Given the description of an element on the screen output the (x, y) to click on. 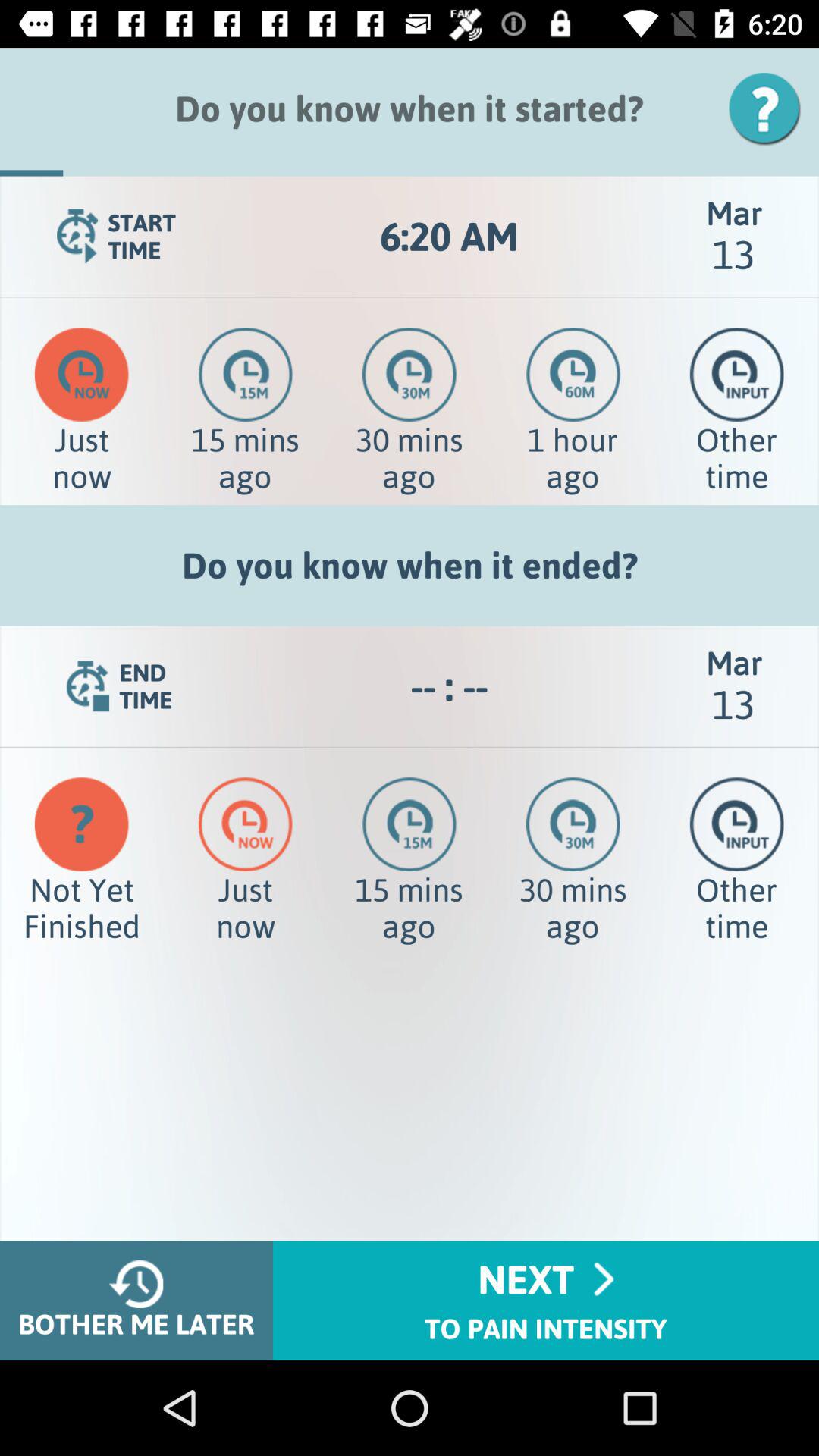
turn off icon next to end
time icon (448, 686)
